Given the description of an element on the screen output the (x, y) to click on. 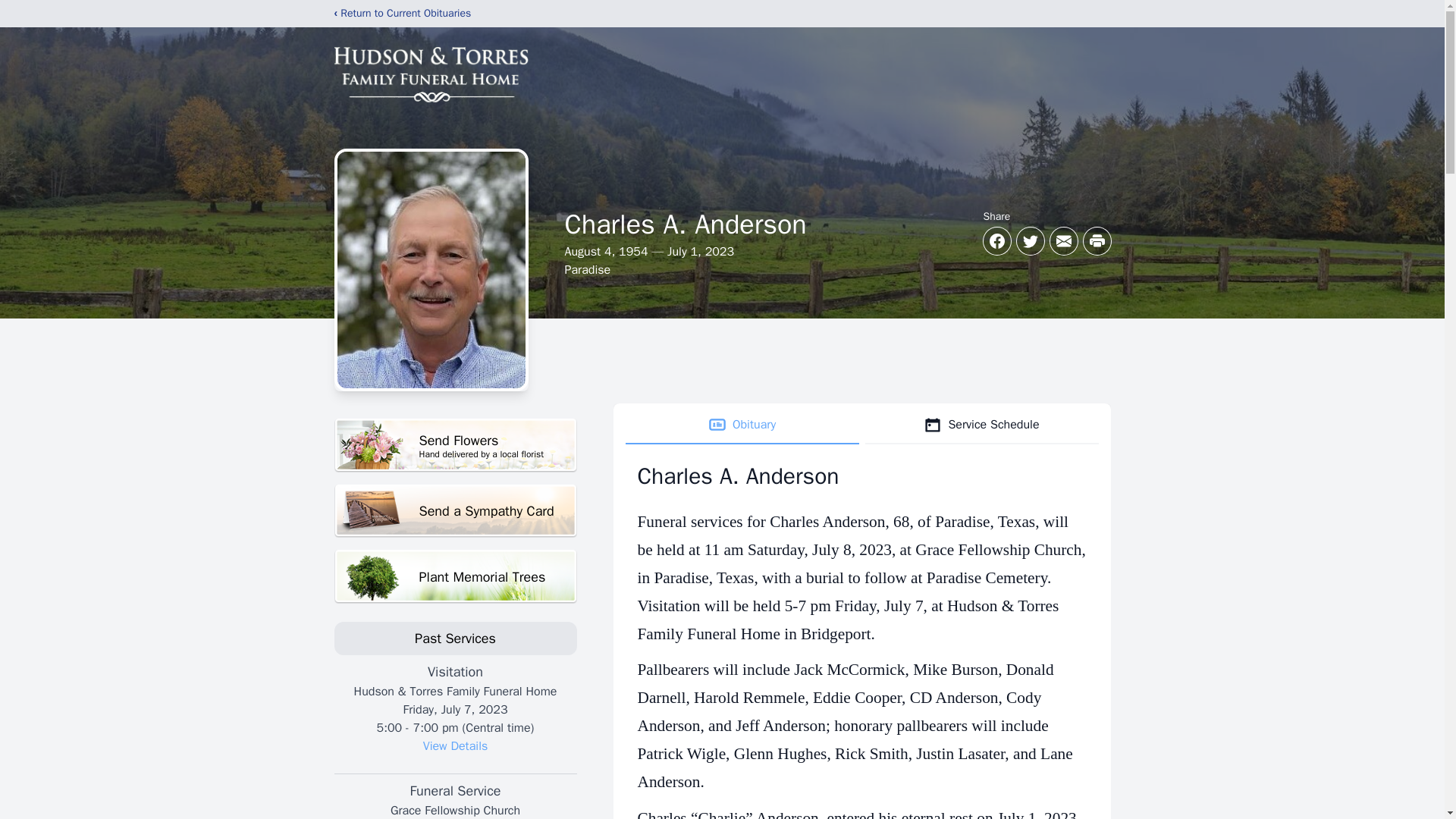
Service Schedule (980, 425)
Plant Memorial Trees (454, 576)
Send a Sympathy Card (454, 511)
Obituary (454, 445)
View Details (741, 425)
